Given the description of an element on the screen output the (x, y) to click on. 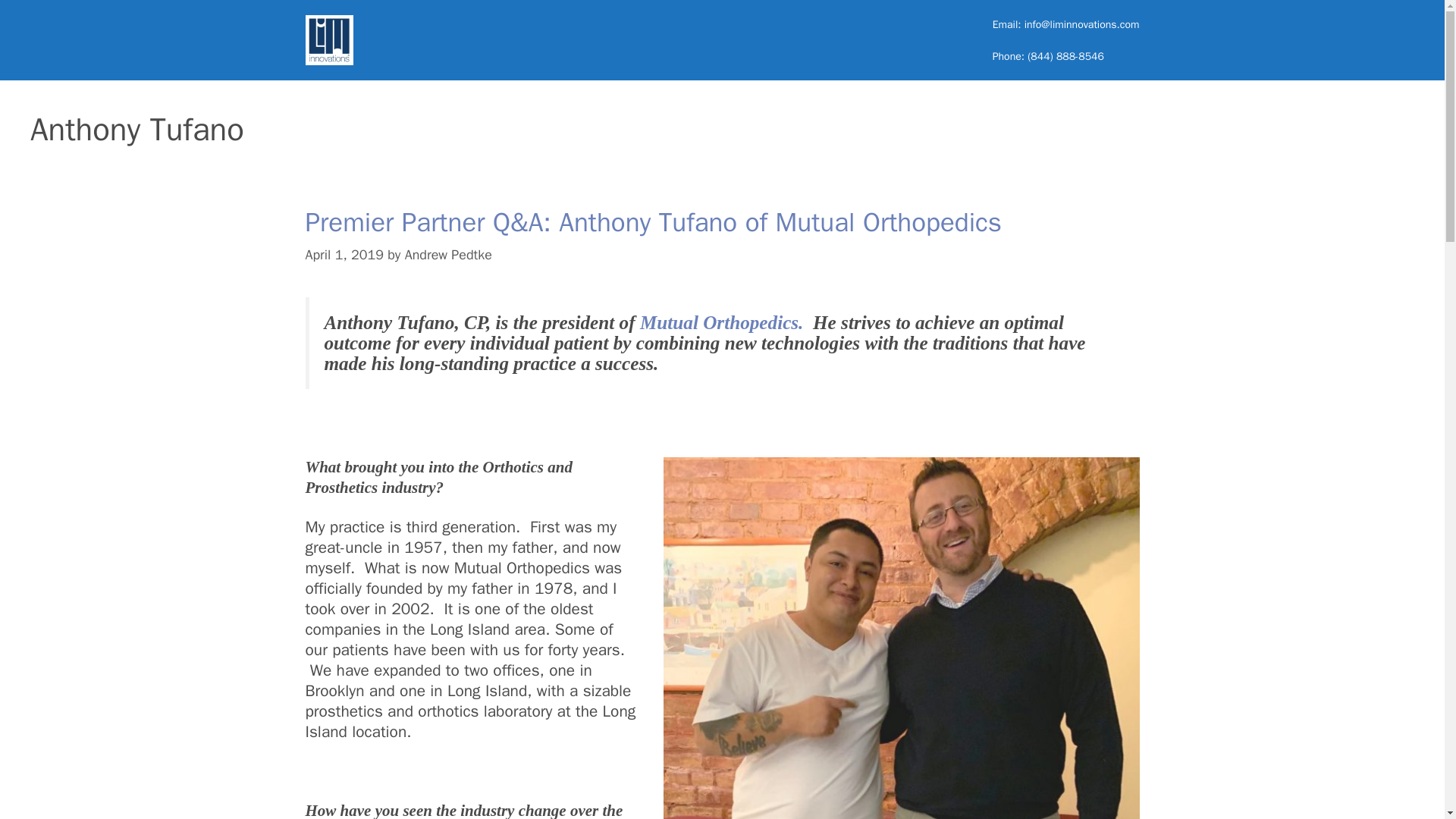
LIM Innovations (328, 40)
Andrew Pedtke (448, 254)
View all posts by Andrew Pedtke (448, 254)
LIM Innovations (328, 38)
Mutual Orthopedics. (721, 322)
